Given the description of an element on the screen output the (x, y) to click on. 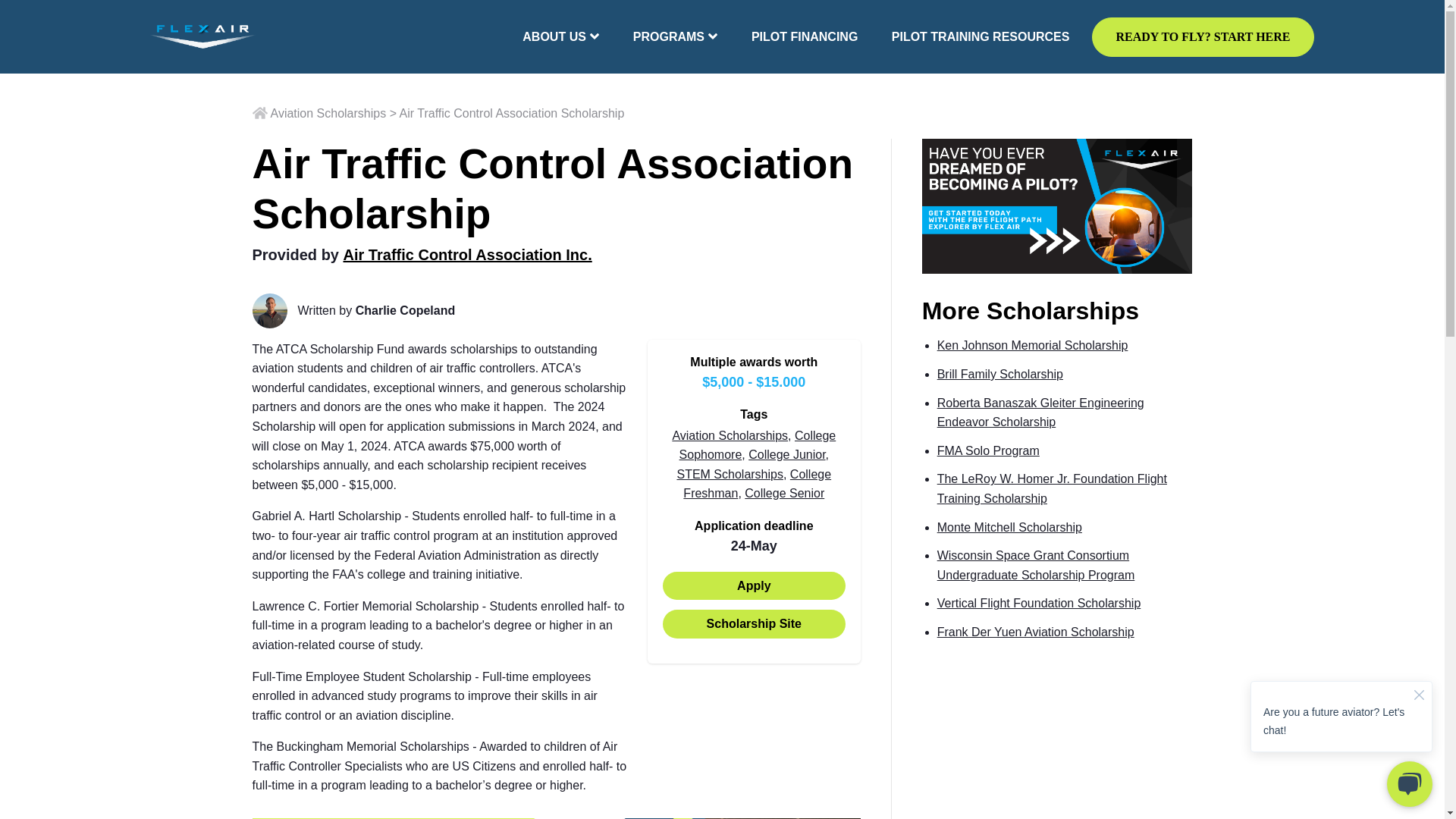
College Junior (786, 454)
FlexAir (202, 36)
Brill Family Scholarship (999, 373)
PILOT TRAINING RESOURCES (980, 36)
FMA Solo Program (988, 450)
STEM Scholarships (730, 473)
College Freshman (756, 483)
Monte Mitchell Scholarship (1009, 526)
READY TO FLY? START HERE (1202, 36)
Frank Der Yuen Aviation Scholarship (1035, 631)
Air Traffic Control Association Inc. (467, 254)
Apply (753, 585)
Scholarship Site (753, 623)
Aviation Scholarships (729, 435)
